Given the description of an element on the screen output the (x, y) to click on. 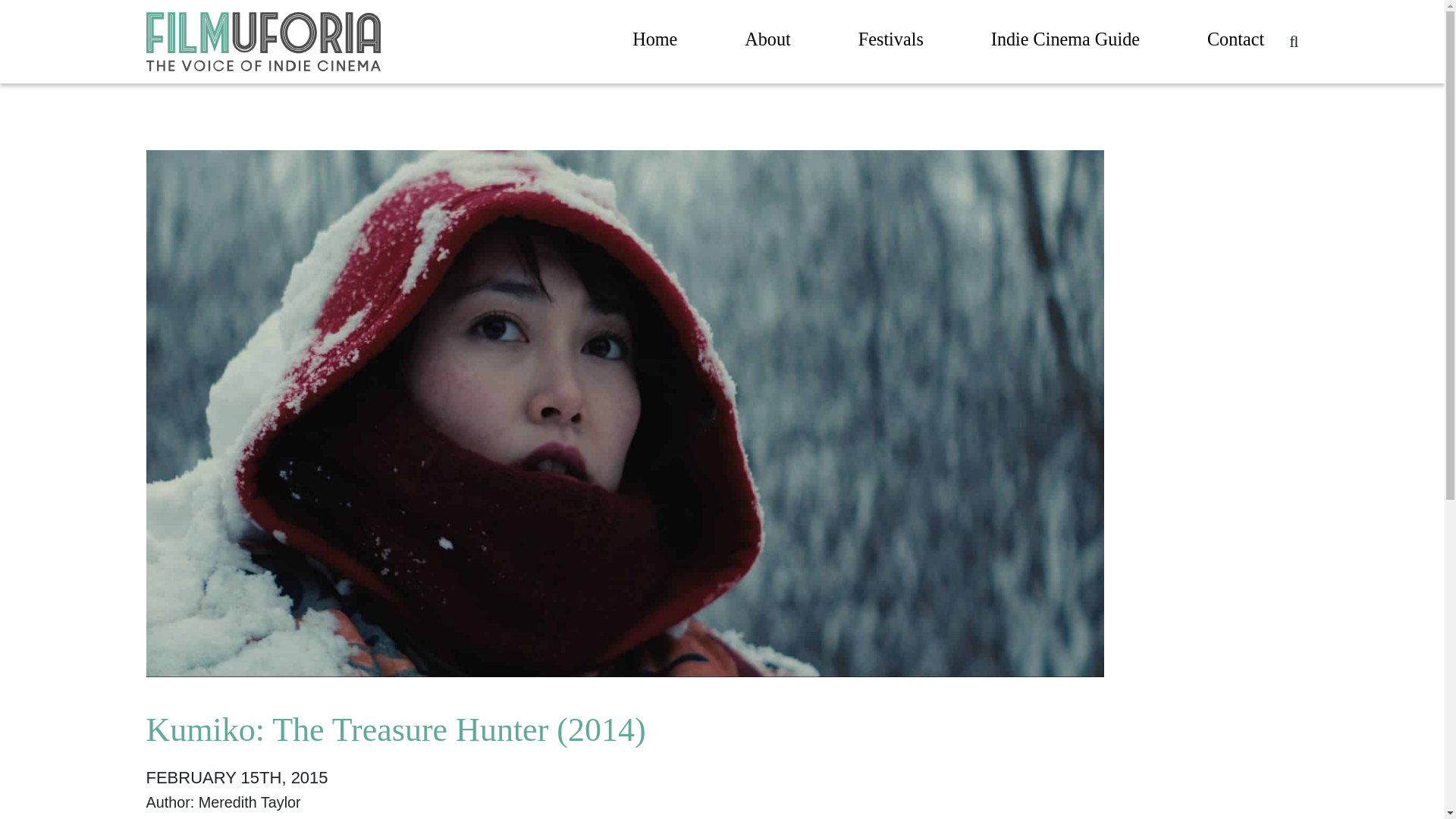
Home (654, 42)
Indie Cinema Guide (1065, 42)
About (767, 42)
Festivals (891, 42)
Contact (1235, 42)
